Given the description of an element on the screen output the (x, y) to click on. 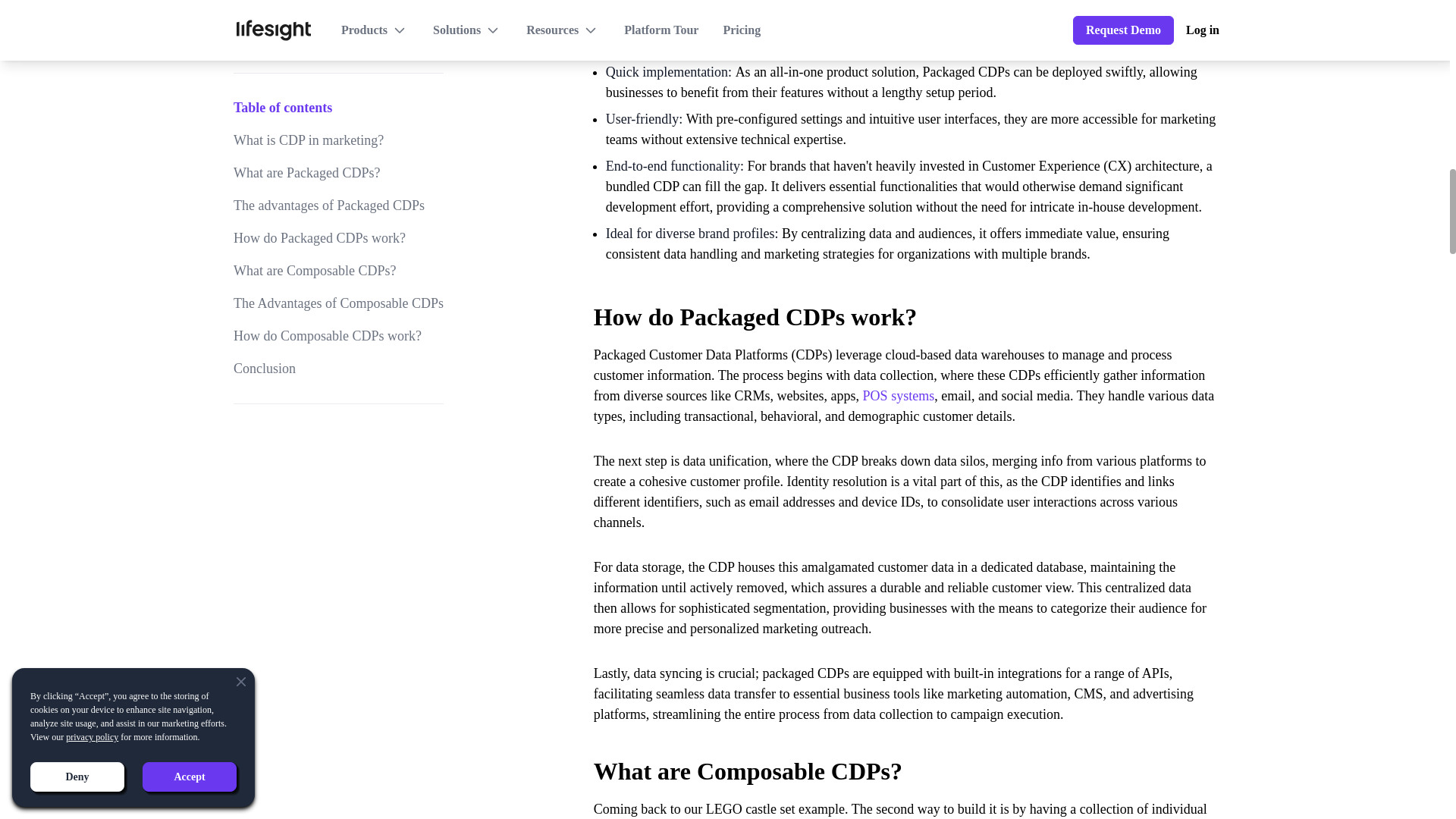
What are Composable CDPs? (904, 762)
How do Packaged CDPs work? (904, 307)
POS systems (898, 395)
